Given the description of an element on the screen output the (x, y) to click on. 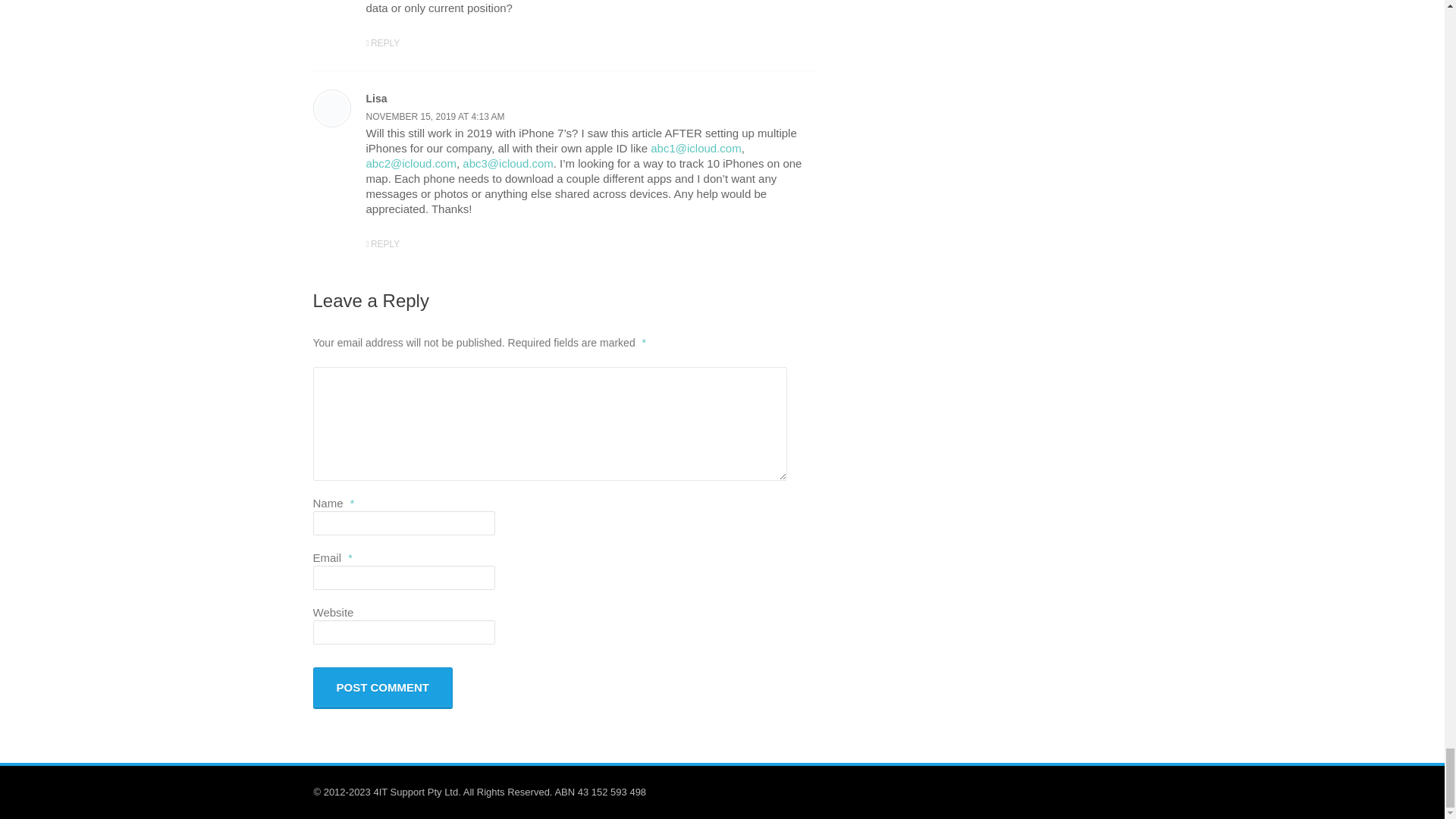
Post Comment (382, 688)
